Given the description of an element on the screen output the (x, y) to click on. 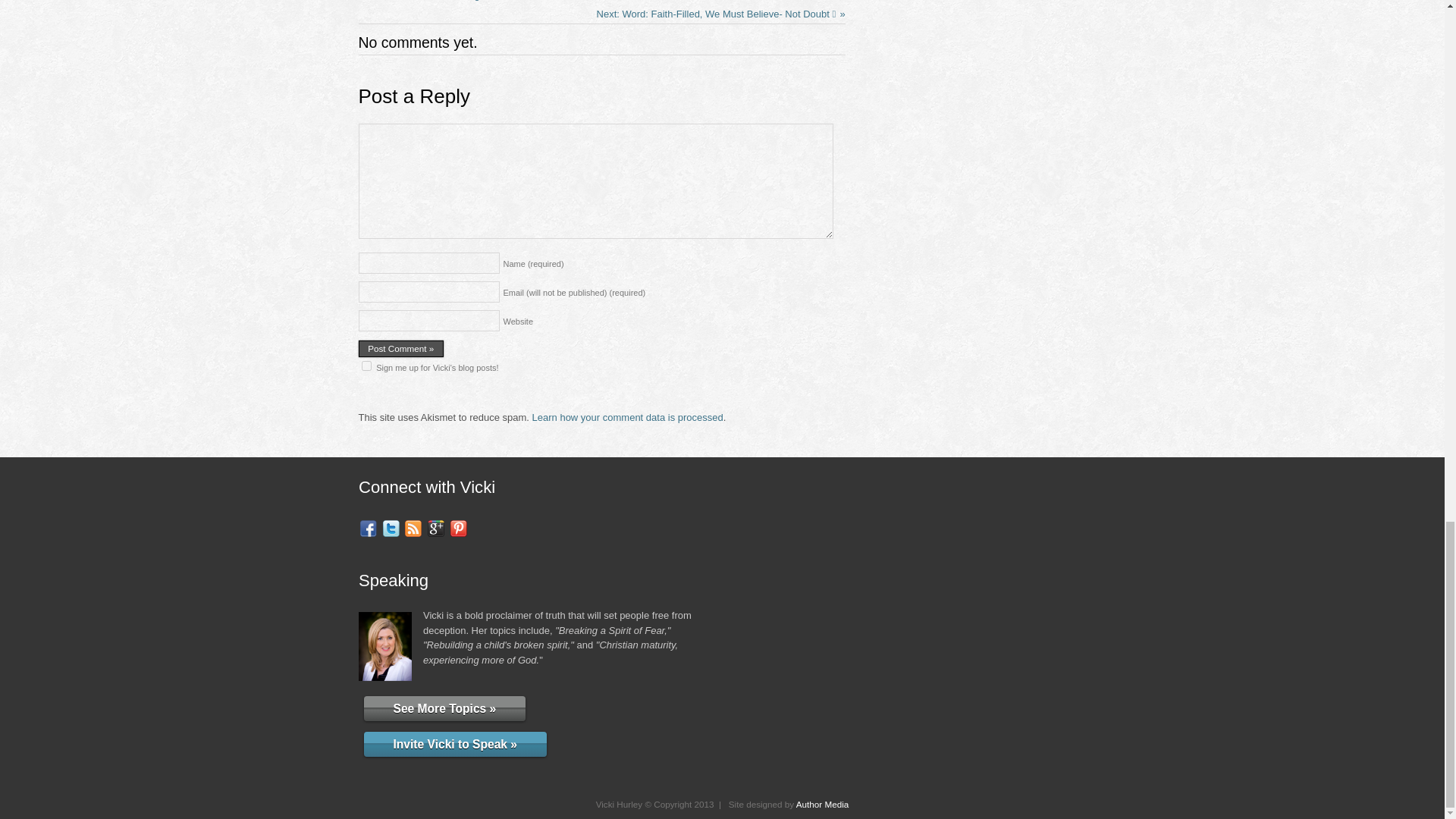
Word: Faith-Filled, We Must Believe- Not Doubt (720, 13)
1 (366, 366)
Learn how your comment data is processed (627, 417)
